Given the description of an element on the screen output the (x, y) to click on. 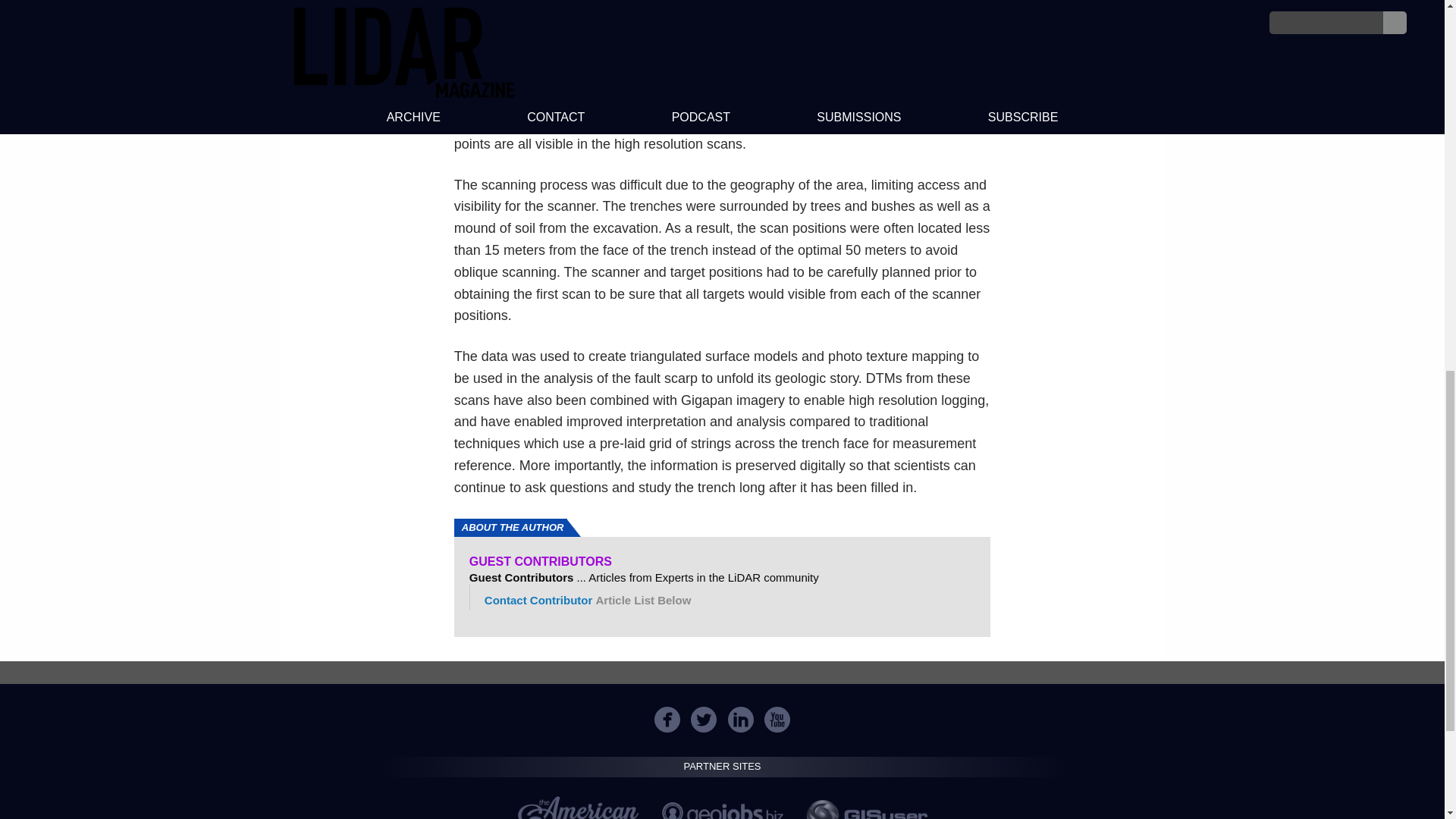
icon-sm-fb (666, 719)
icon-sm-twitter (703, 719)
icon-sm-youtube (776, 719)
icon-sm-linkedin (741, 719)
icon-sm-linkedin (740, 719)
Contact Contributor (538, 599)
icon-sm-twitter (703, 719)
icon-sm-fb (667, 719)
icon-sm-youtube (777, 719)
